Given the description of an element on the screen output the (x, y) to click on. 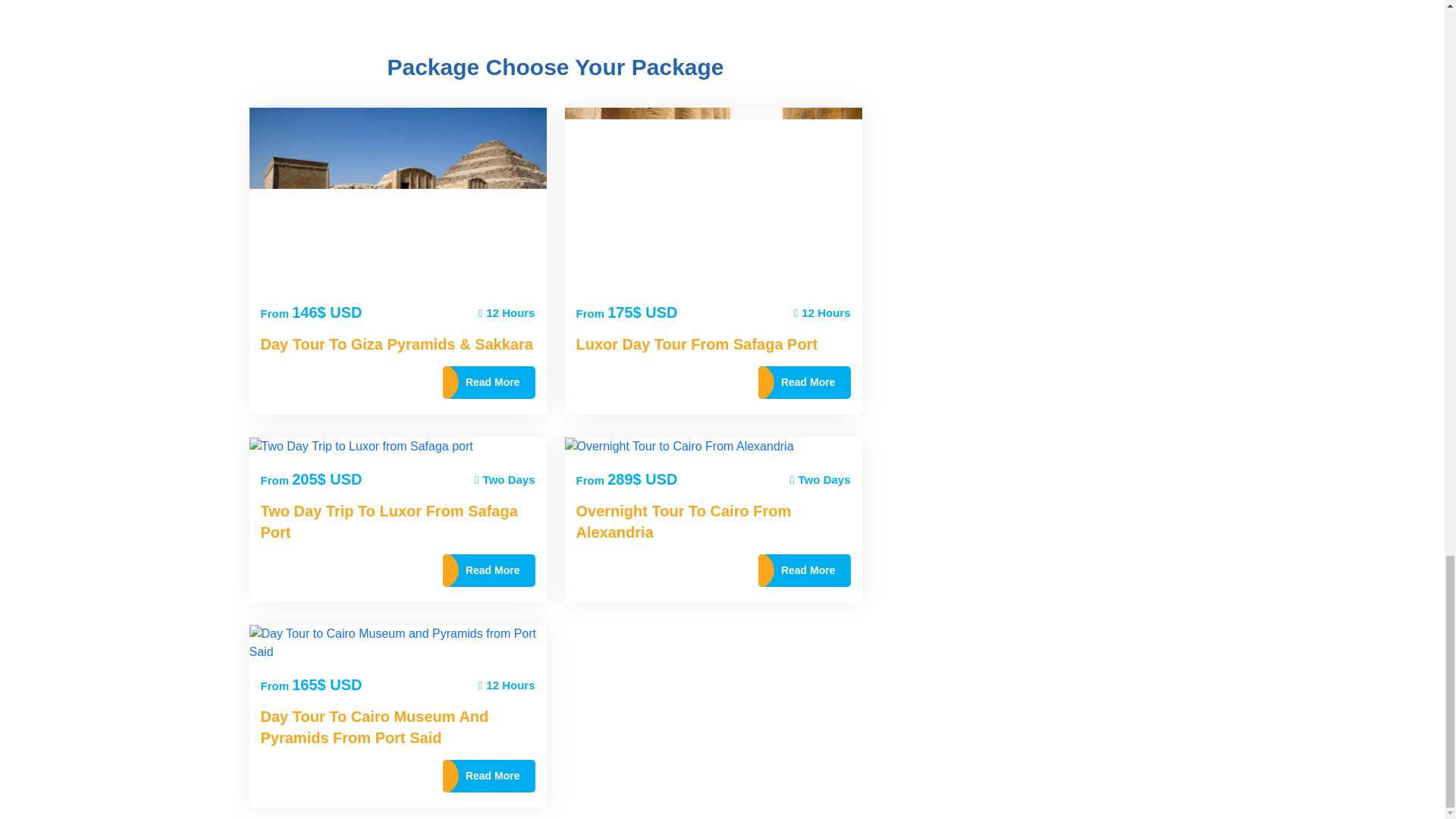
Overnight Tour to Cairo From Alexandria (678, 446)
Luxor Day Tour from Safaga Port (712, 198)
Day Tour to Cairo Museum and Pyramids from Port Said (397, 642)
Two Day Trip to Luxor from Safaga port (359, 446)
